Given the description of an element on the screen output the (x, y) to click on. 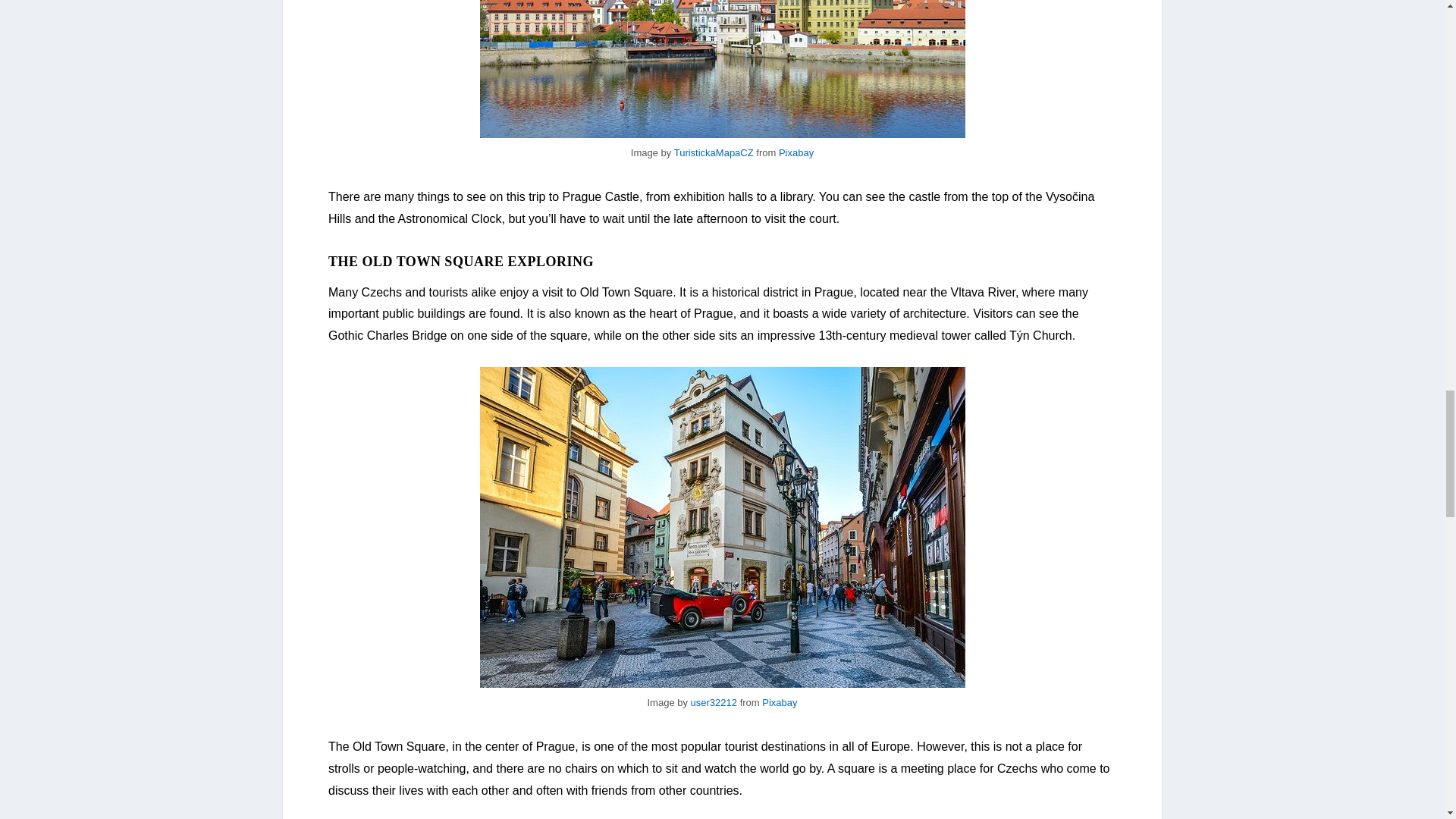
Pixabay (778, 702)
Pixabay (795, 152)
TuristickaMapaCZ (714, 152)
user32212 (713, 702)
